Given the description of an element on the screen output the (x, y) to click on. 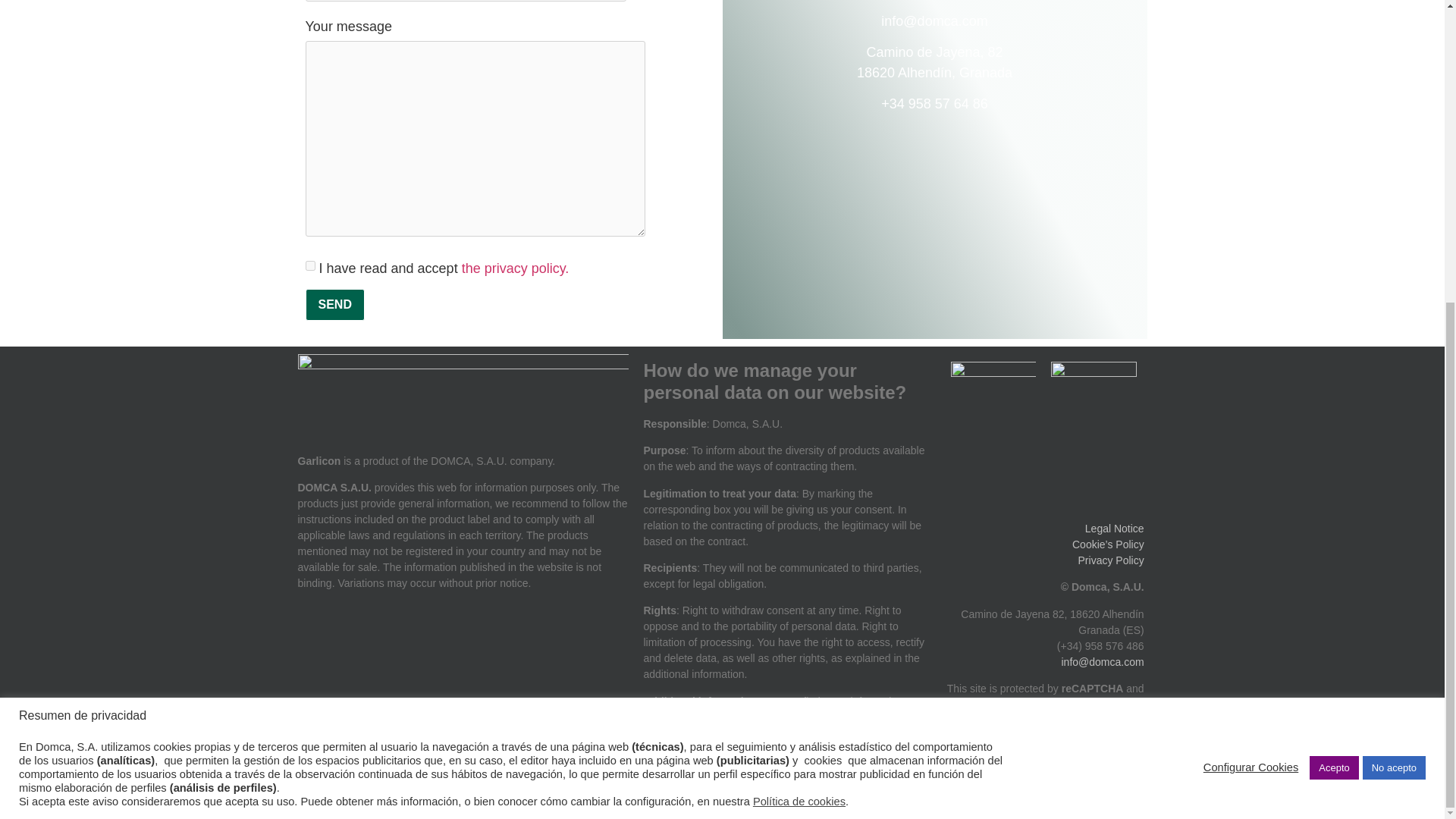
Domca (462, 693)
Terms of Service (1111, 712)
Privacy Policy (1046, 704)
General Privacy Policy (779, 717)
Send (334, 305)
Configurar Cookies (1251, 295)
Legal Notice (1114, 528)
1 (309, 266)
the privacy policy. (515, 268)
Privacy Policy (1111, 560)
Send (334, 305)
